Given the description of an element on the screen output the (x, y) to click on. 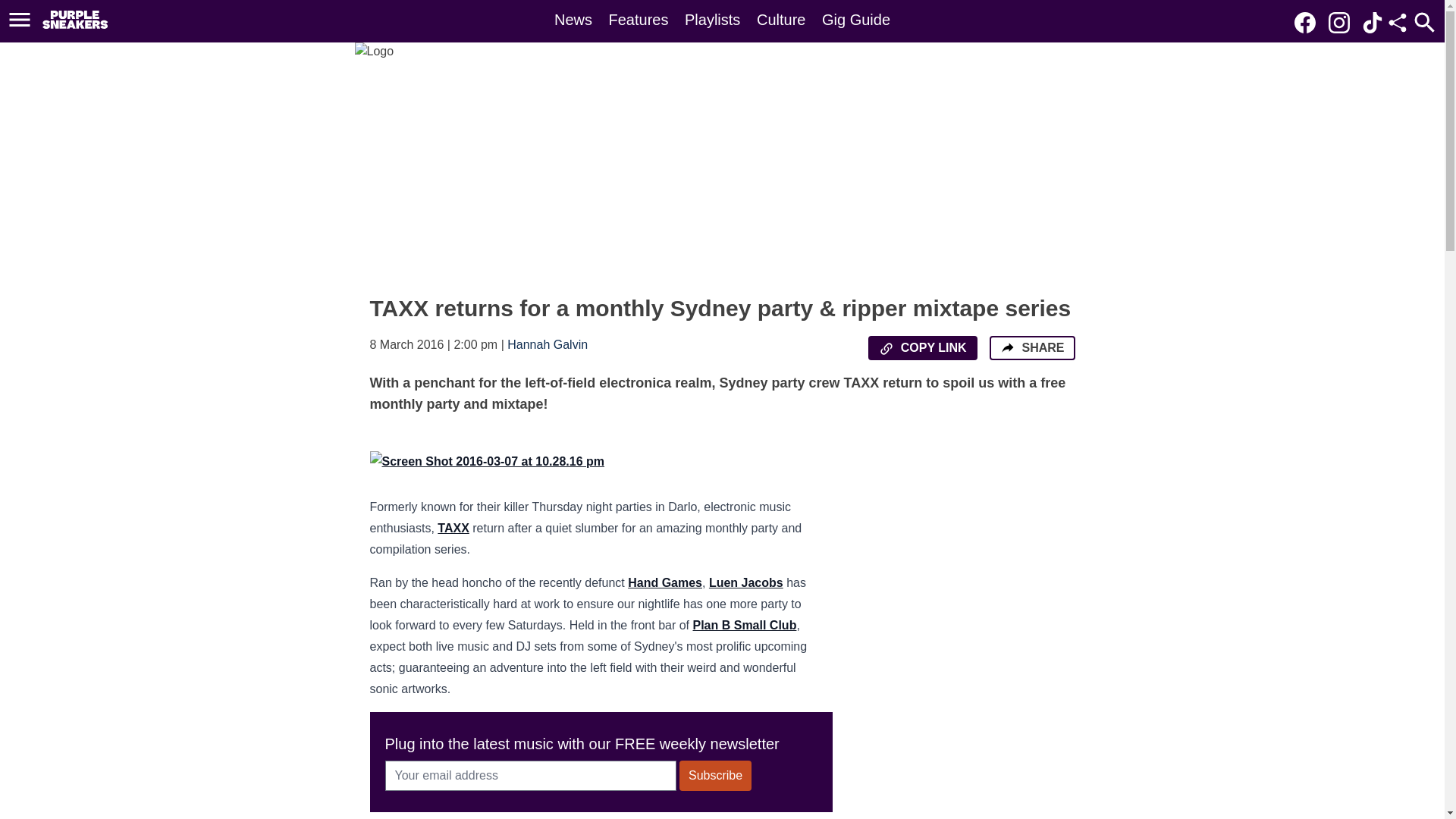
Open the main menu (19, 19)
TAXX (453, 527)
Link to our Facebook (1305, 22)
Copy the page URL COPY LINK (921, 347)
Link to our Instagram (1342, 21)
Link to our TikTok (1372, 22)
Share this page (1397, 22)
Share this page (1397, 22)
Playlists (711, 19)
News (573, 19)
Open the site search menu (1424, 22)
Gig Guide (855, 19)
Plan B Small Club (744, 625)
Subscribe (715, 775)
Open the main menu (22, 19)
